Given the description of an element on the screen output the (x, y) to click on. 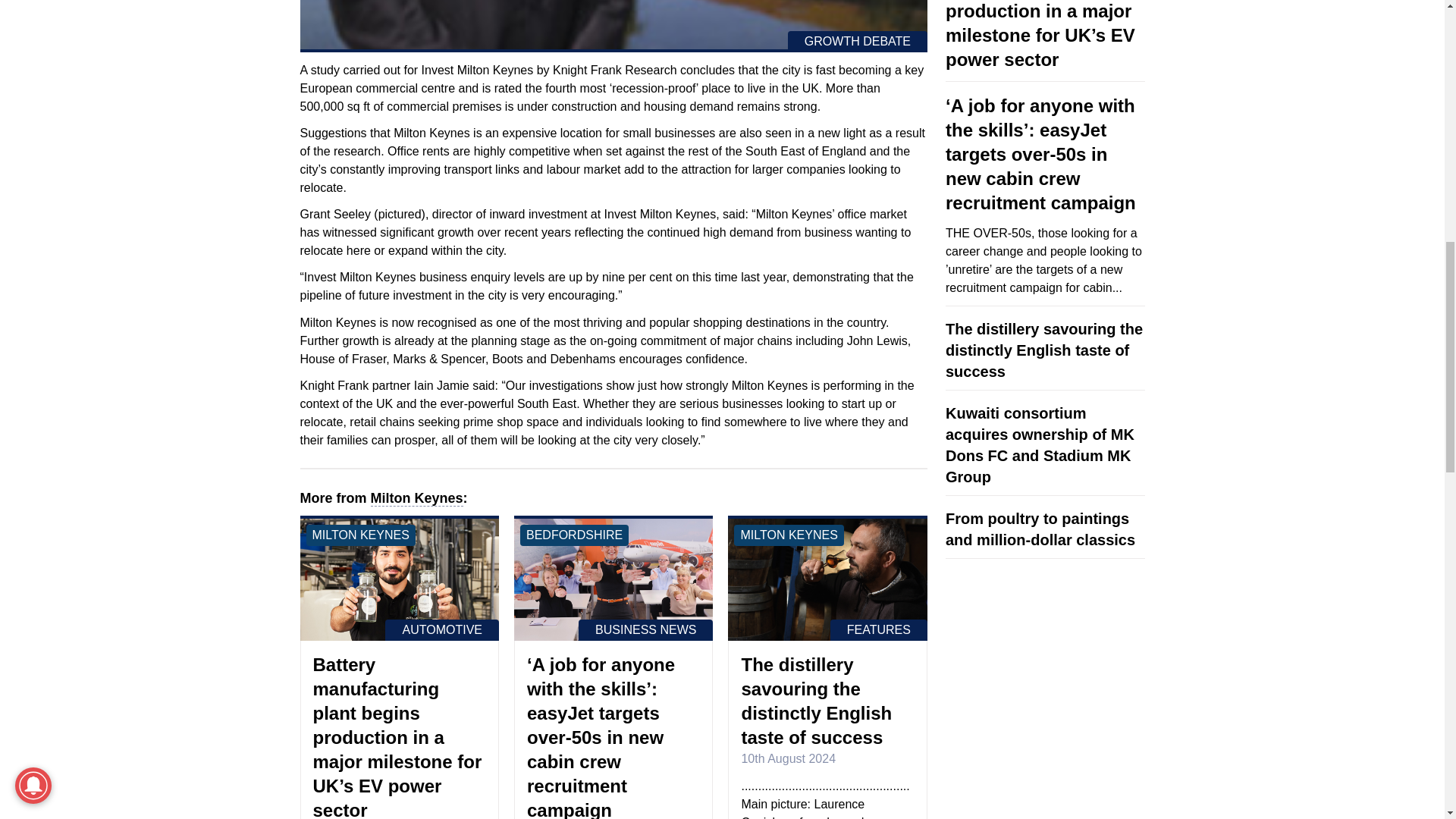
See all growth debate (857, 41)
See all bedfordshire (573, 535)
See all milton keynes (359, 535)
See all business news (645, 629)
See all automotive (442, 629)
